Given the description of an element on the screen output the (x, y) to click on. 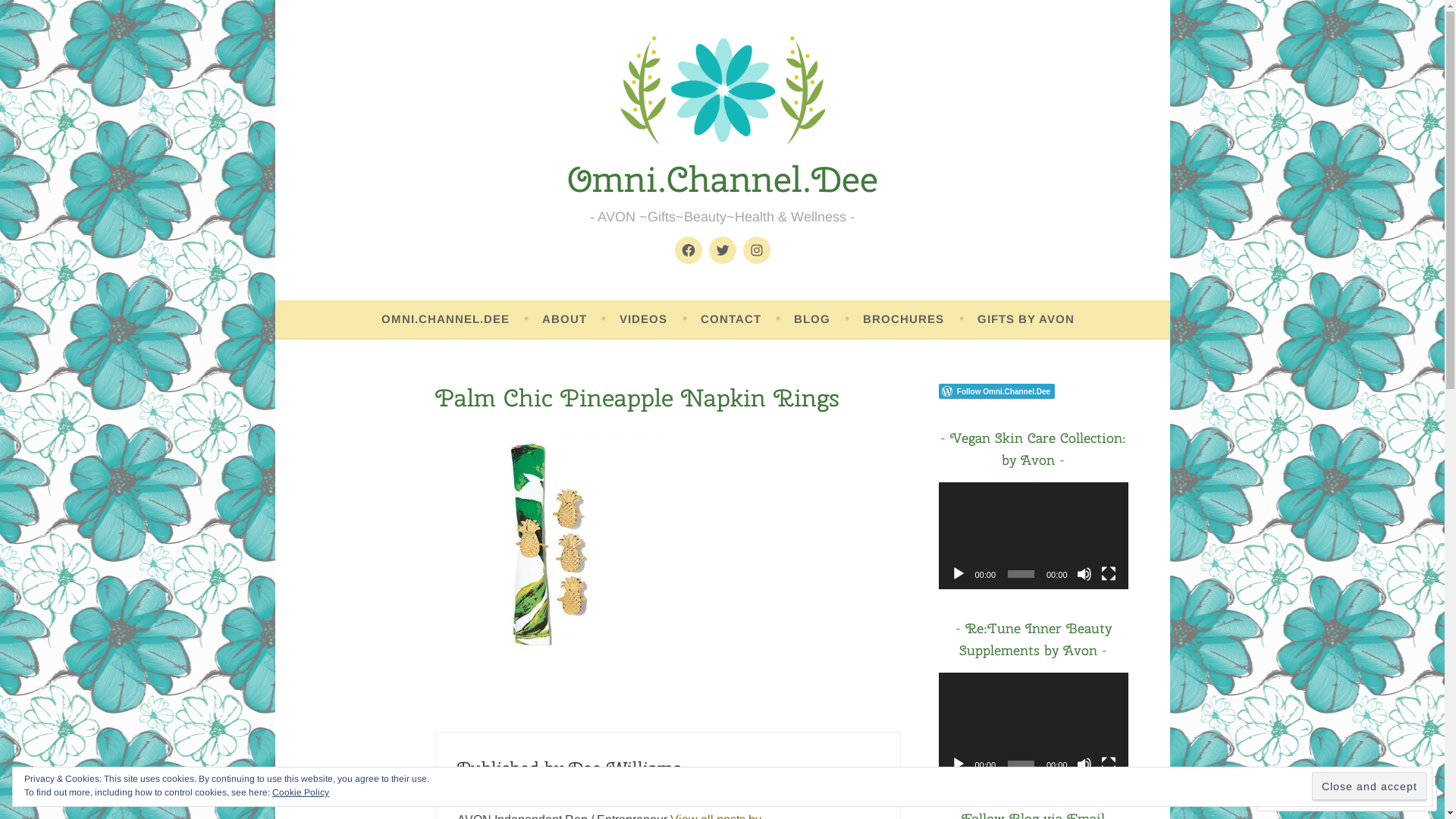
OMNI.CHANNEL.DEE Element type: text (445, 318)
GIFTS BY AVON Element type: text (1025, 318)
Mute Element type: hover (1084, 573)
Follow Button Element type: hover (1033, 390)
Mute Element type: hover (1084, 763)
Fullscreen Element type: hover (1108, 763)
CONTACT Element type: text (730, 318)
BROCHURES Element type: text (903, 318)
Cookie Policy Element type: text (300, 792)
Search Element type: text (37, 15)
Play Element type: hover (958, 573)
ABOUT Element type: text (564, 318)
Follow Element type: text (1372, 797)
Close and accept Element type: text (1369, 786)
VIDEOS Element type: text (643, 318)
Play Element type: hover (958, 763)
Omni.Channel.Dee Element type: text (722, 178)
BLOG Element type: text (811, 318)
Fullscreen Element type: hover (1108, 573)
Comment Element type: text (1297, 797)
